Given the description of an element on the screen output the (x, y) to click on. 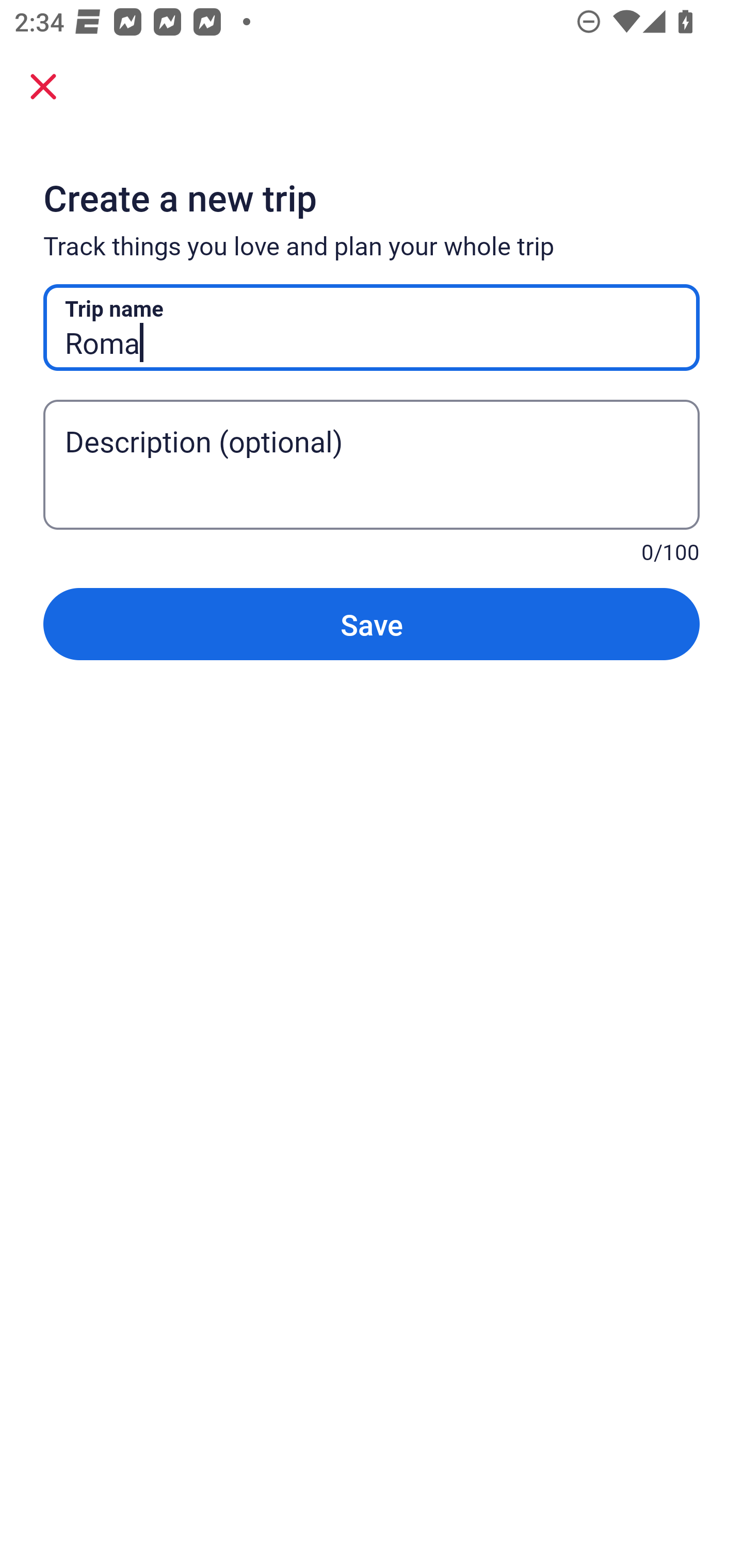
Close (43, 86)
Roma Trip name Trip name (371, 327)
Save Button Save (371, 624)
